Given the description of an element on the screen output the (x, y) to click on. 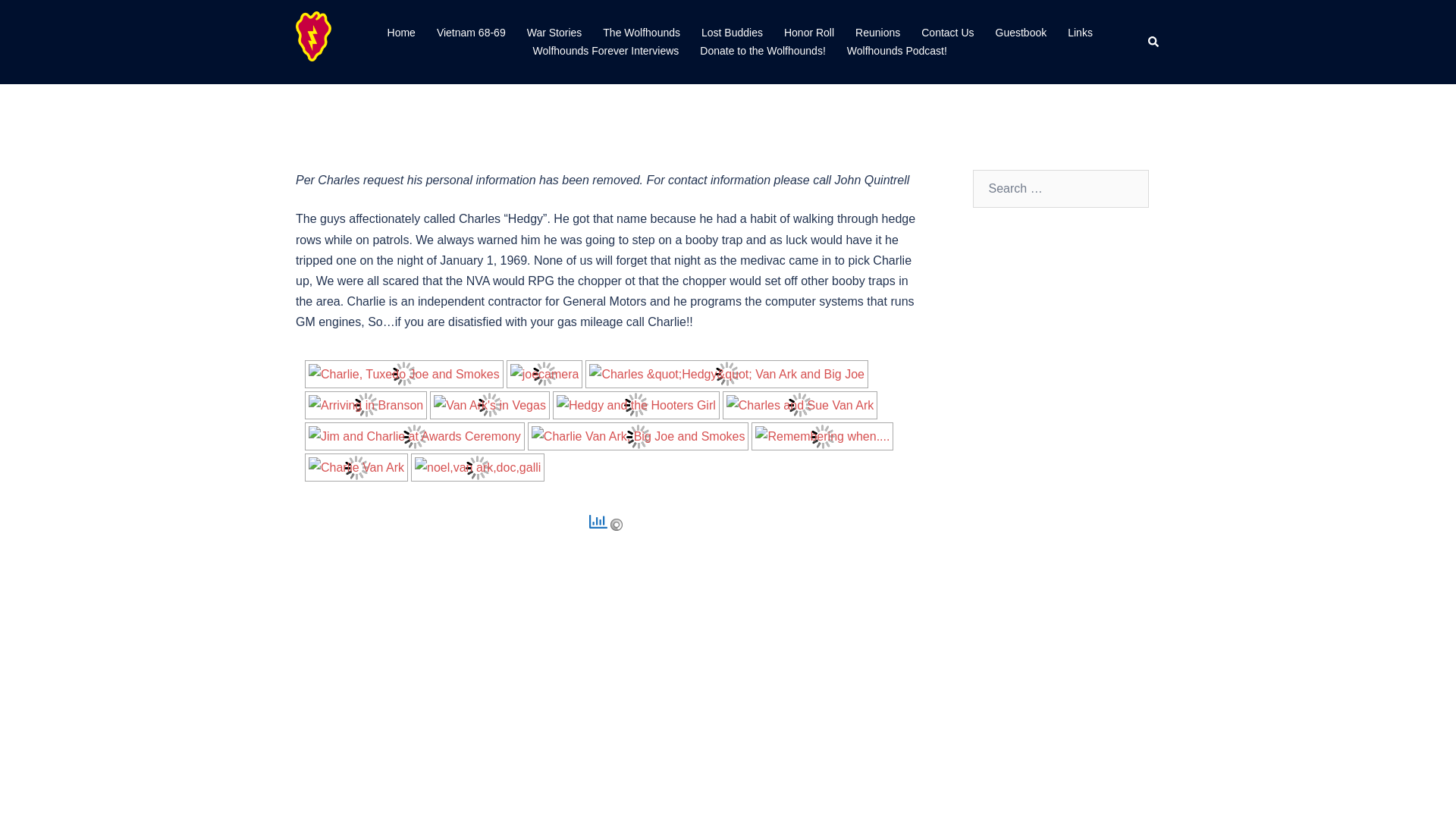
noel,van ark,doc,galli (477, 467)
Charlie Van Ark (355, 467)
Van Ark's in Vegas (489, 405)
Vietnam 68-69 (470, 33)
Contact Us (947, 33)
Wolfhounds Podcast! (897, 51)
Lost Buddies (731, 33)
Links (1080, 33)
Hedgy and the Hooters Girl (636, 405)
joecamera (544, 374)
Home (400, 33)
Charles and Sue Van Ark (799, 405)
War Stories (554, 33)
Remembering when.... (822, 436)
Jim and Charlie at Awards Ceremony (414, 436)
